Given the description of an element on the screen output the (x, y) to click on. 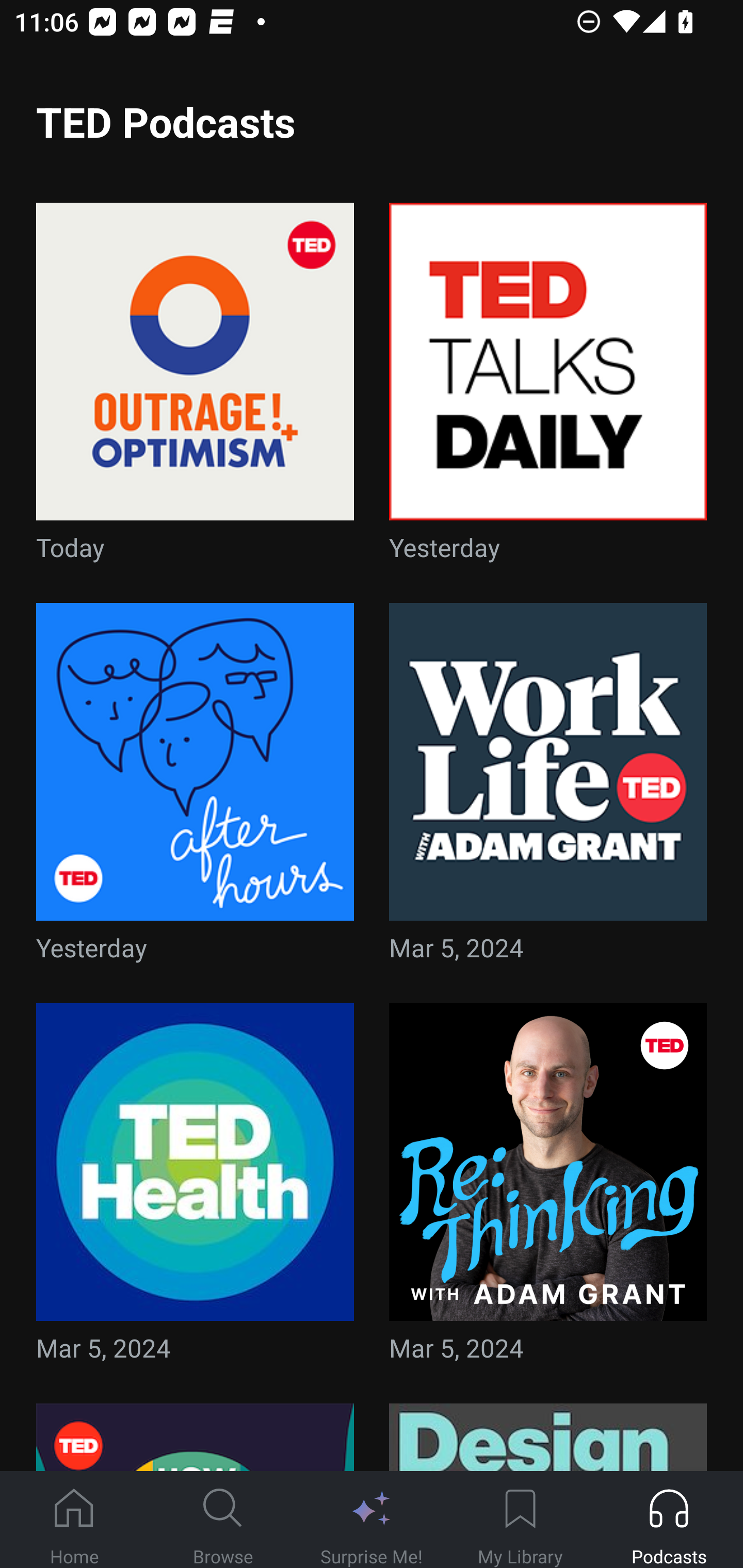
Today (194, 387)
Yesterday (547, 387)
Yesterday (194, 788)
Mar 5, 2024 (547, 788)
Mar 5, 2024 (194, 1189)
Mar 5, 2024 (547, 1189)
Home (74, 1520)
Browse (222, 1520)
Surprise Me! (371, 1520)
My Library (519, 1520)
Podcasts (668, 1520)
